Given the description of an element on the screen output the (x, y) to click on. 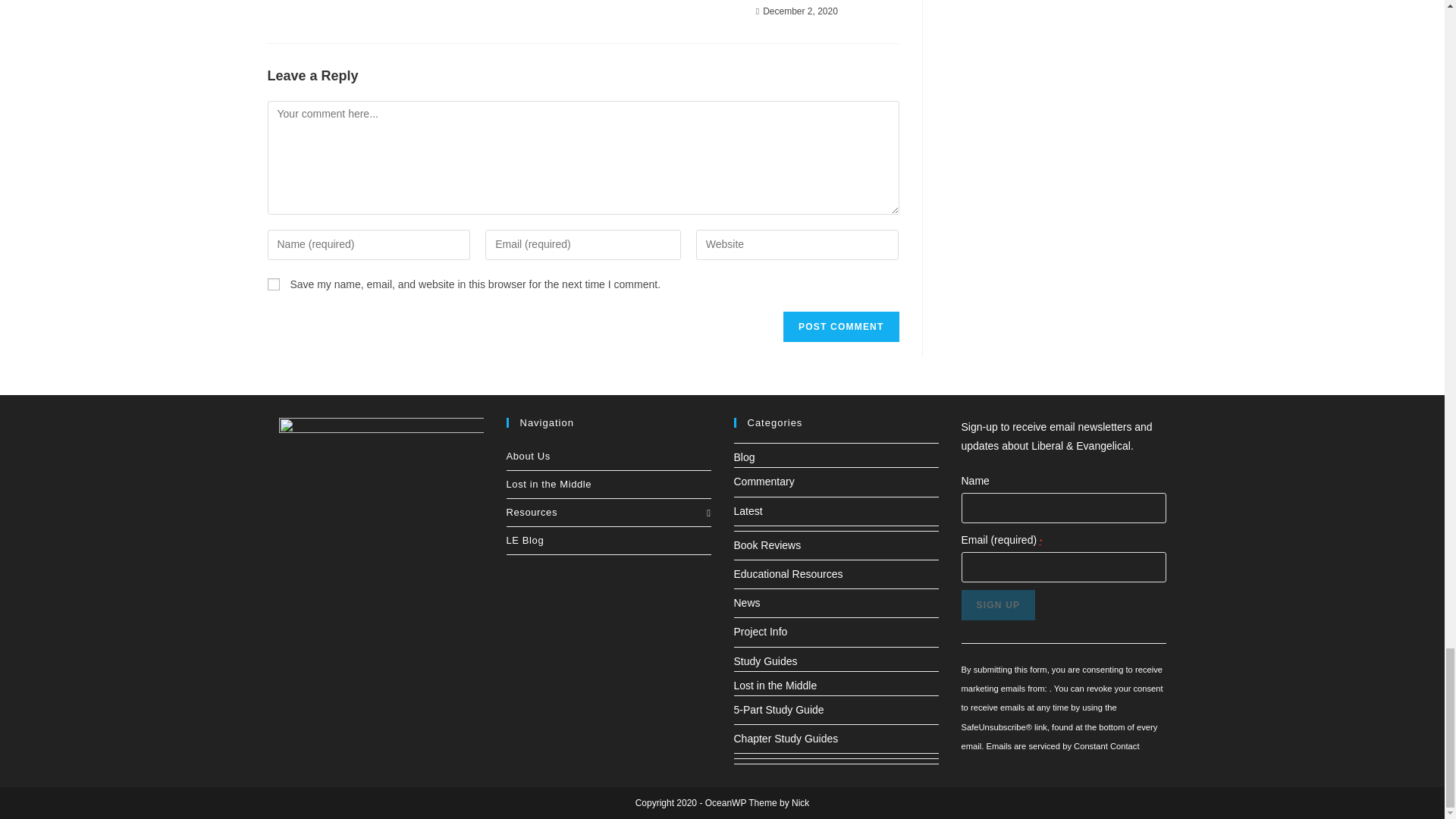
Post Comment (840, 327)
yes (272, 284)
Post Comment (840, 327)
Sign up (997, 604)
